Given the description of an element on the screen output the (x, y) to click on. 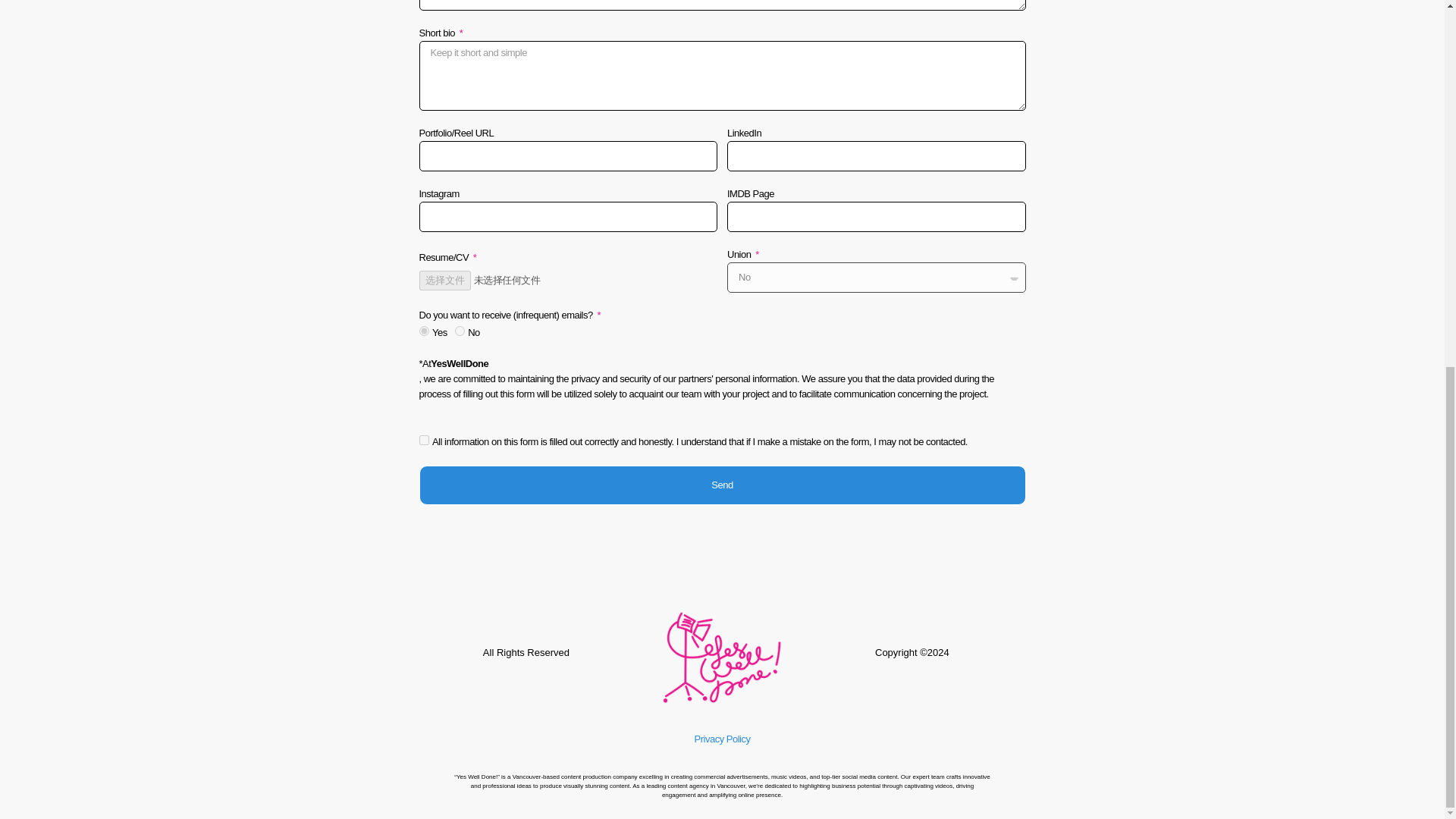
Yes (423, 330)
No (459, 330)
on (423, 439)
Send (722, 485)
Privacy Policy (722, 738)
